Given the description of an element on the screen output the (x, y) to click on. 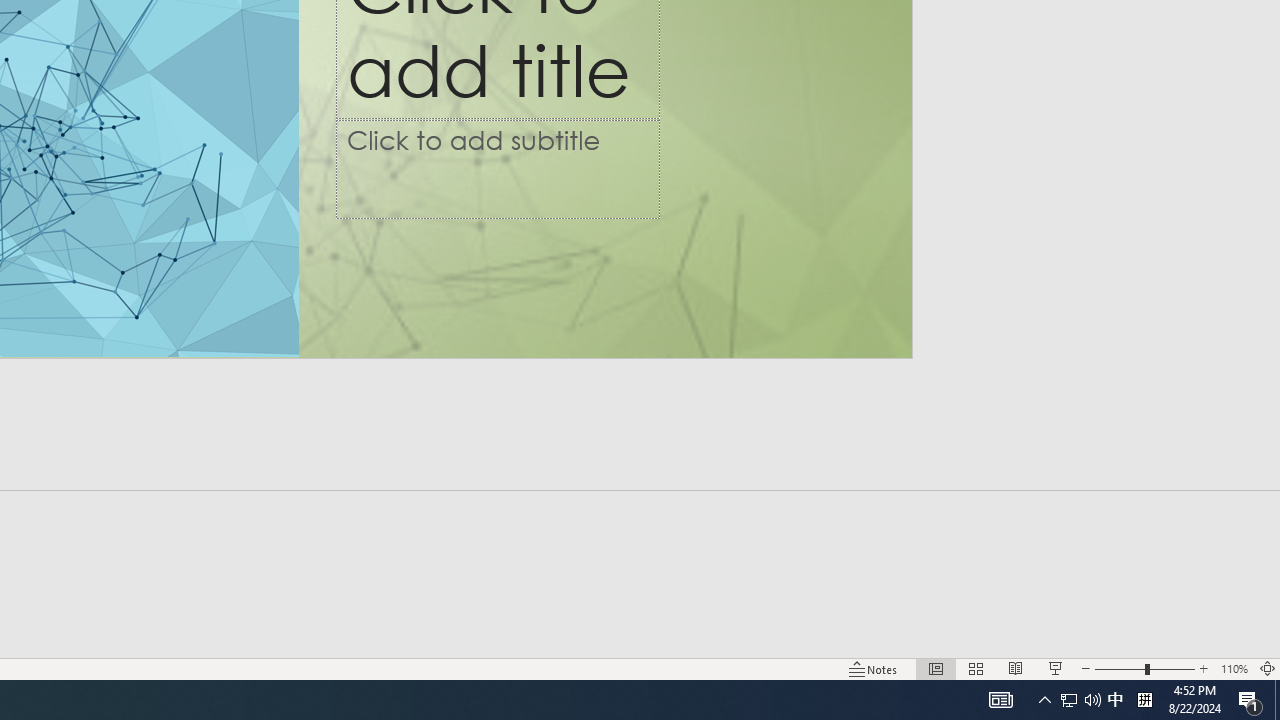
Zoom 110% (1234, 668)
